Given the description of an element on the screen output the (x, y) to click on. 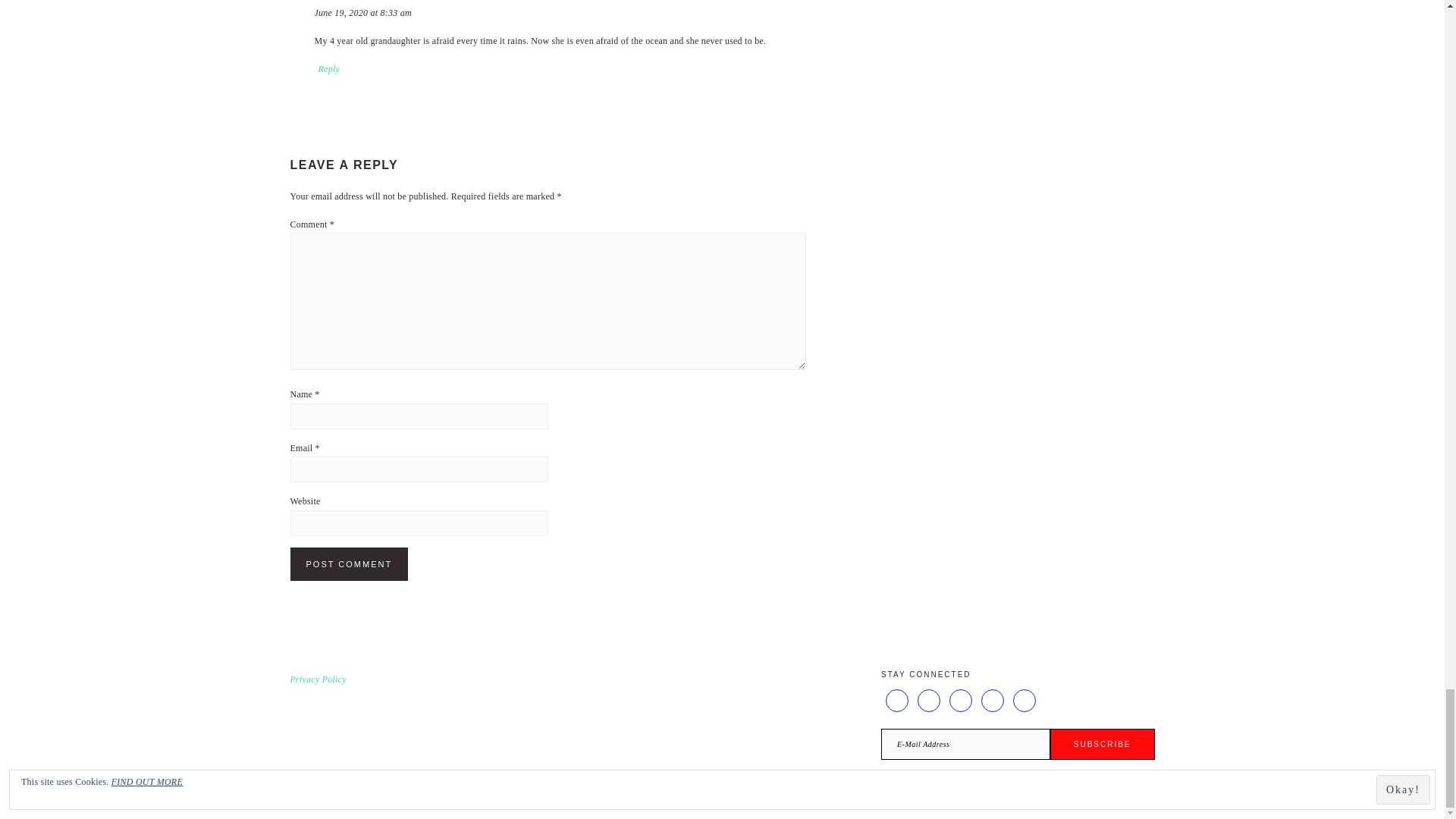
Post Comment (348, 563)
Subscribe (1101, 744)
